Given the description of an element on the screen output the (x, y) to click on. 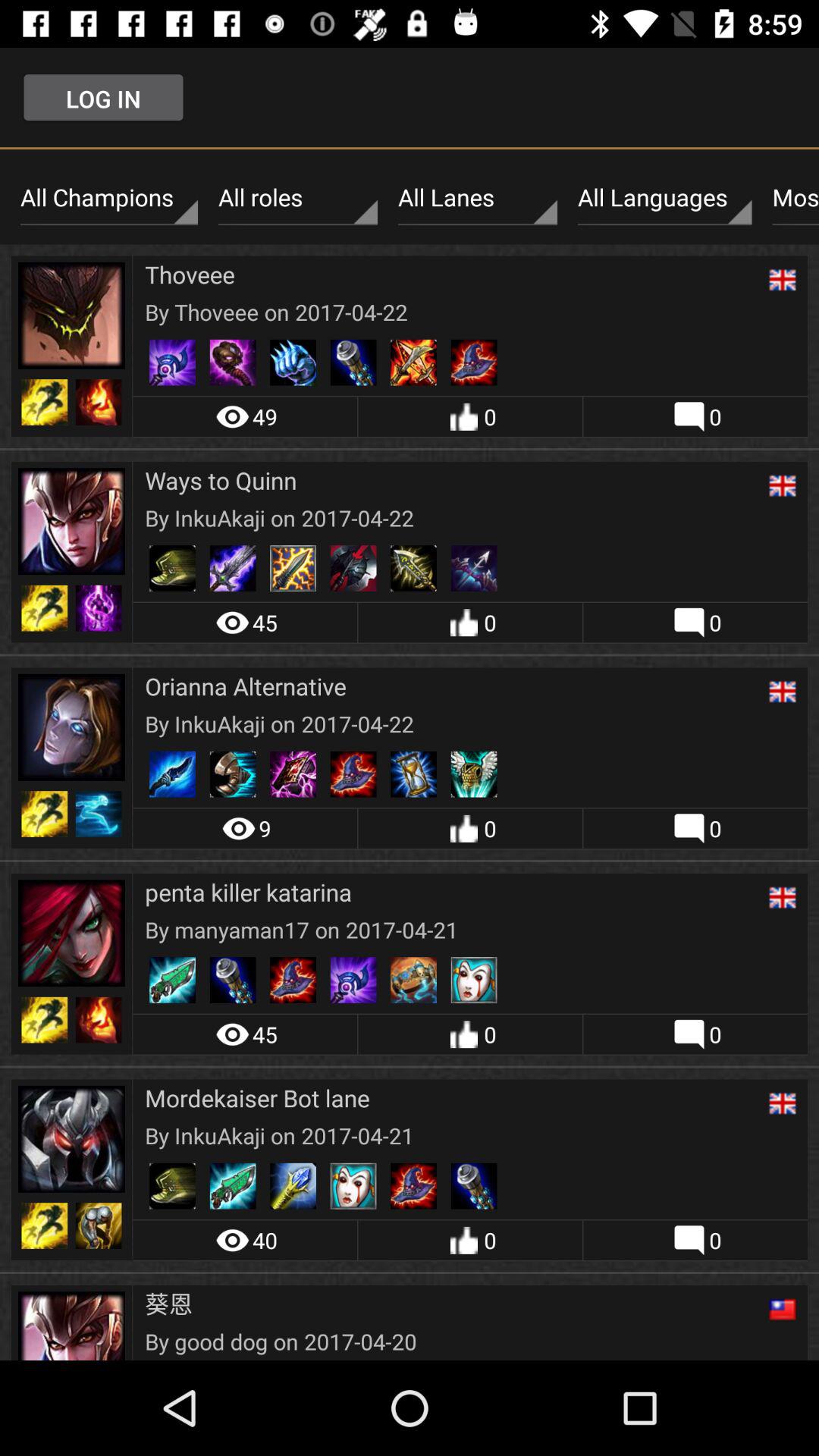
choose the item next to all roles (477, 198)
